Given the description of an element on the screen output the (x, y) to click on. 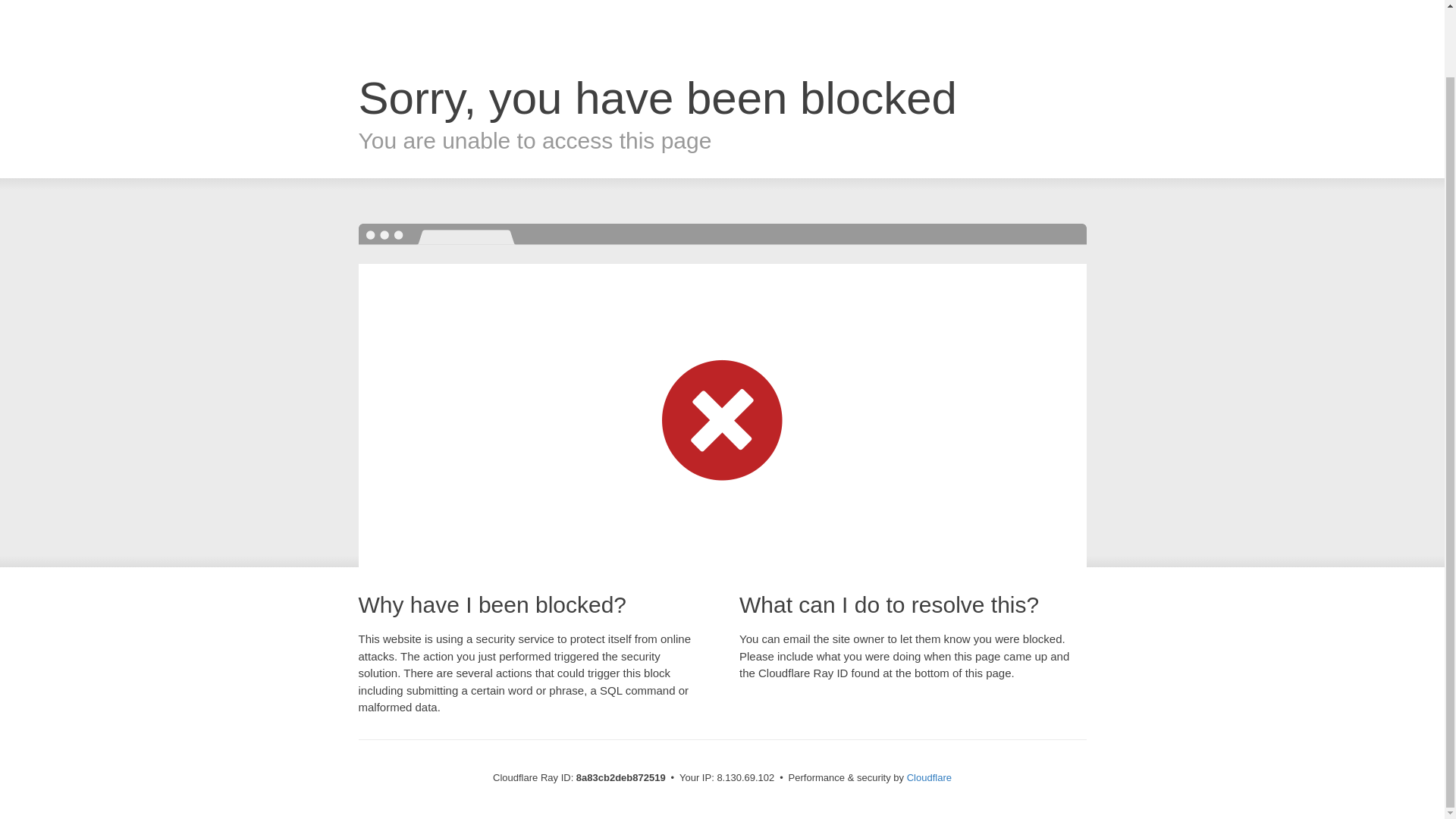
Cloudflare (929, 777)
